Given the description of an element on the screen output the (x, y) to click on. 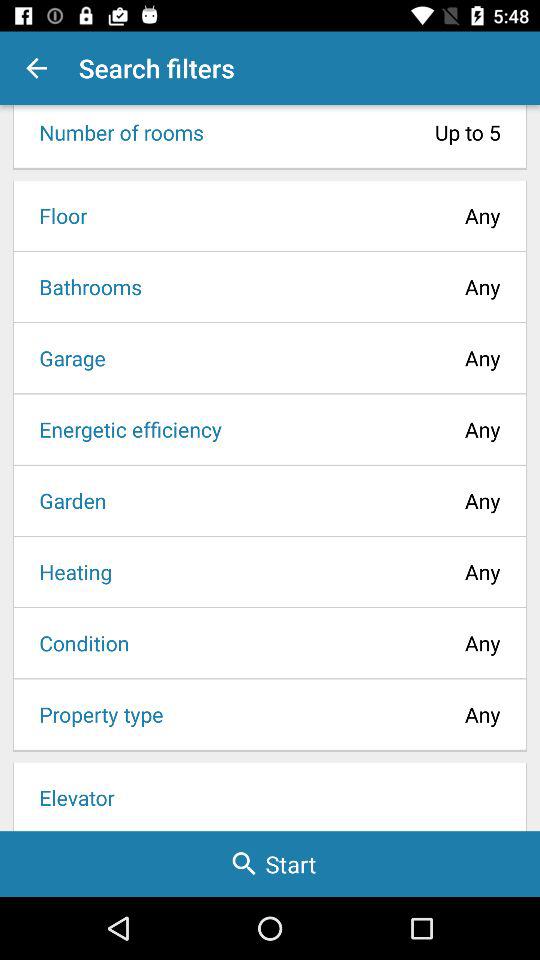
scroll to up to 5 (358, 132)
